Given the description of an element on the screen output the (x, y) to click on. 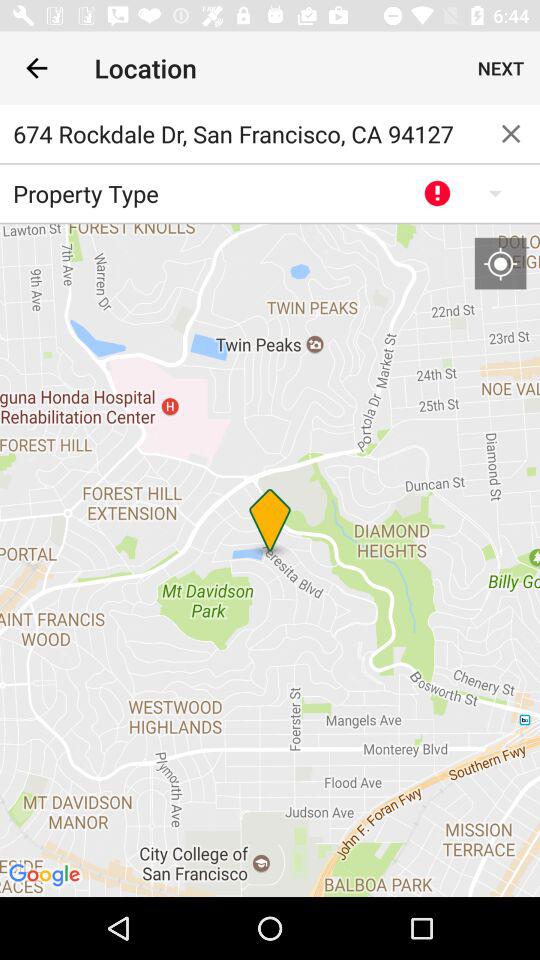
select icon next to the 674 rockdale dr item (511, 133)
